Given the description of an element on the screen output the (x, y) to click on. 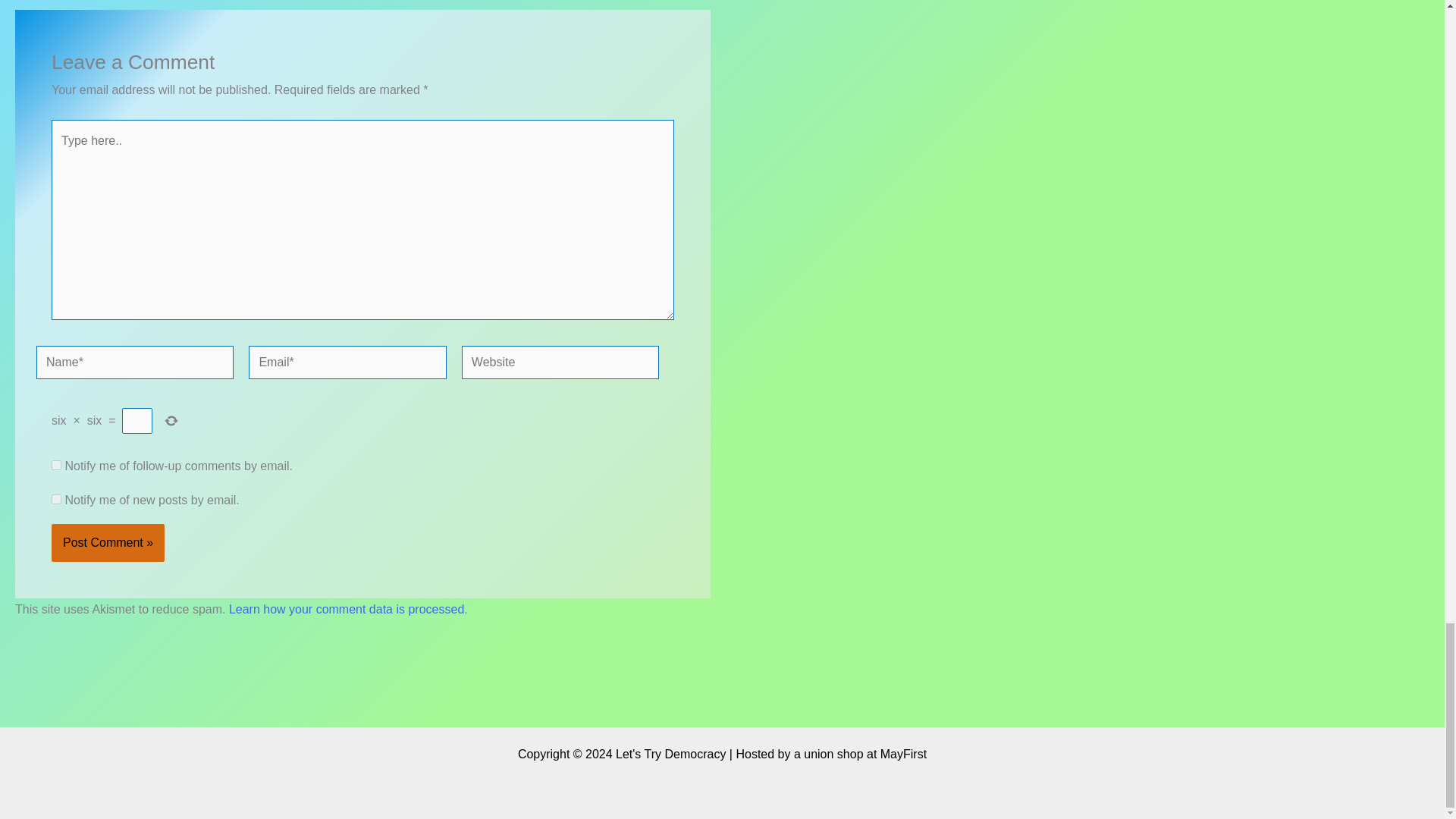
subscribe (55, 499)
subscribe (55, 465)
